Given the description of an element on the screen output the (x, y) to click on. 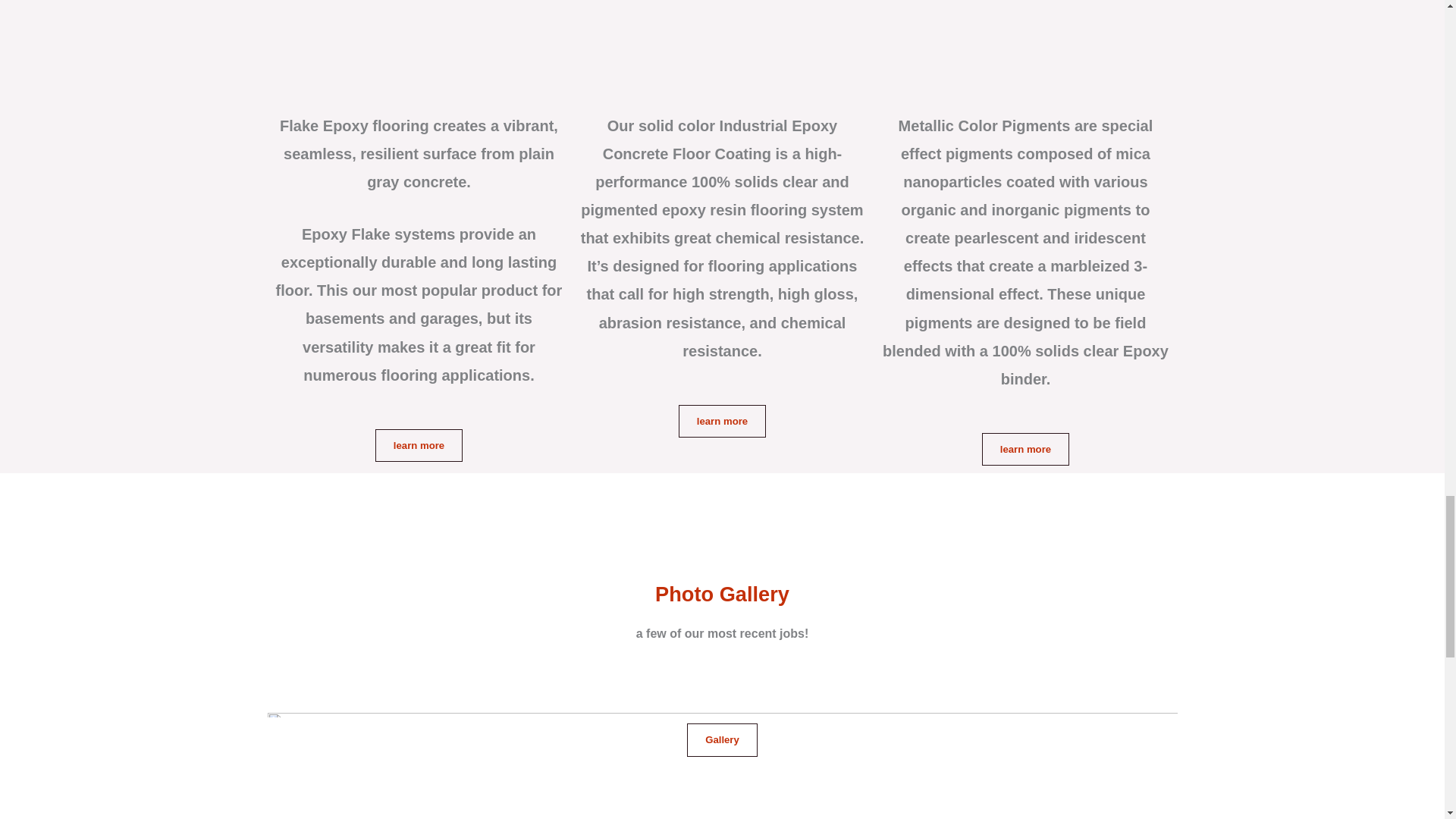
Gallery (722, 739)
learn more (721, 420)
learn more (419, 445)
learn more (1024, 449)
